Given the description of an element on the screen output the (x, y) to click on. 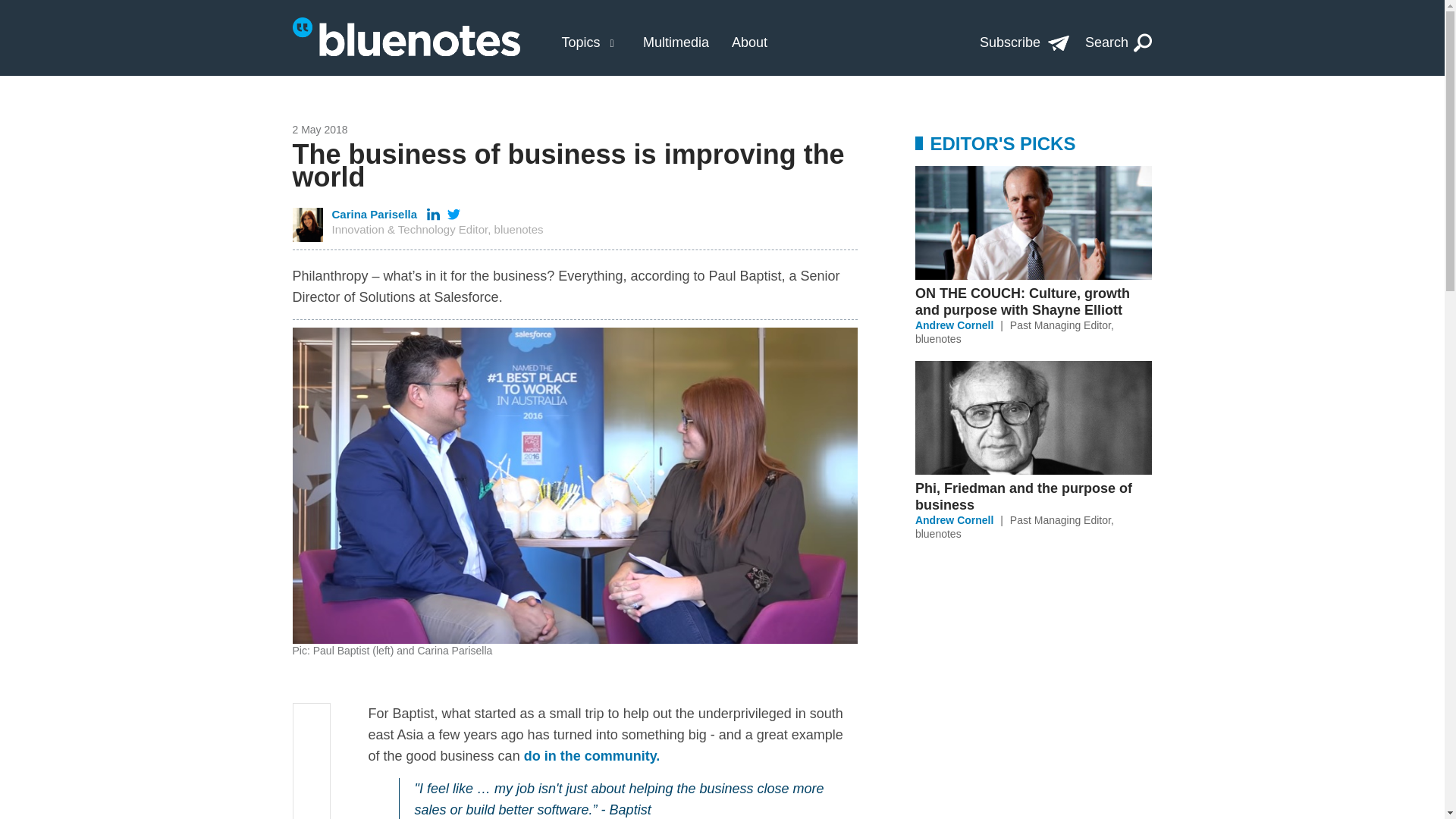
Past Managing Editor, bluenotes (1014, 331)
About (749, 42)
Search (1118, 42)
Topics (579, 42)
Subscribe (1023, 42)
Phi, Friedman and the purpose of business (1033, 496)
Multimedia (676, 42)
Past Managing Editor, bluenotes (1014, 526)
